Given the description of an element on the screen output the (x, y) to click on. 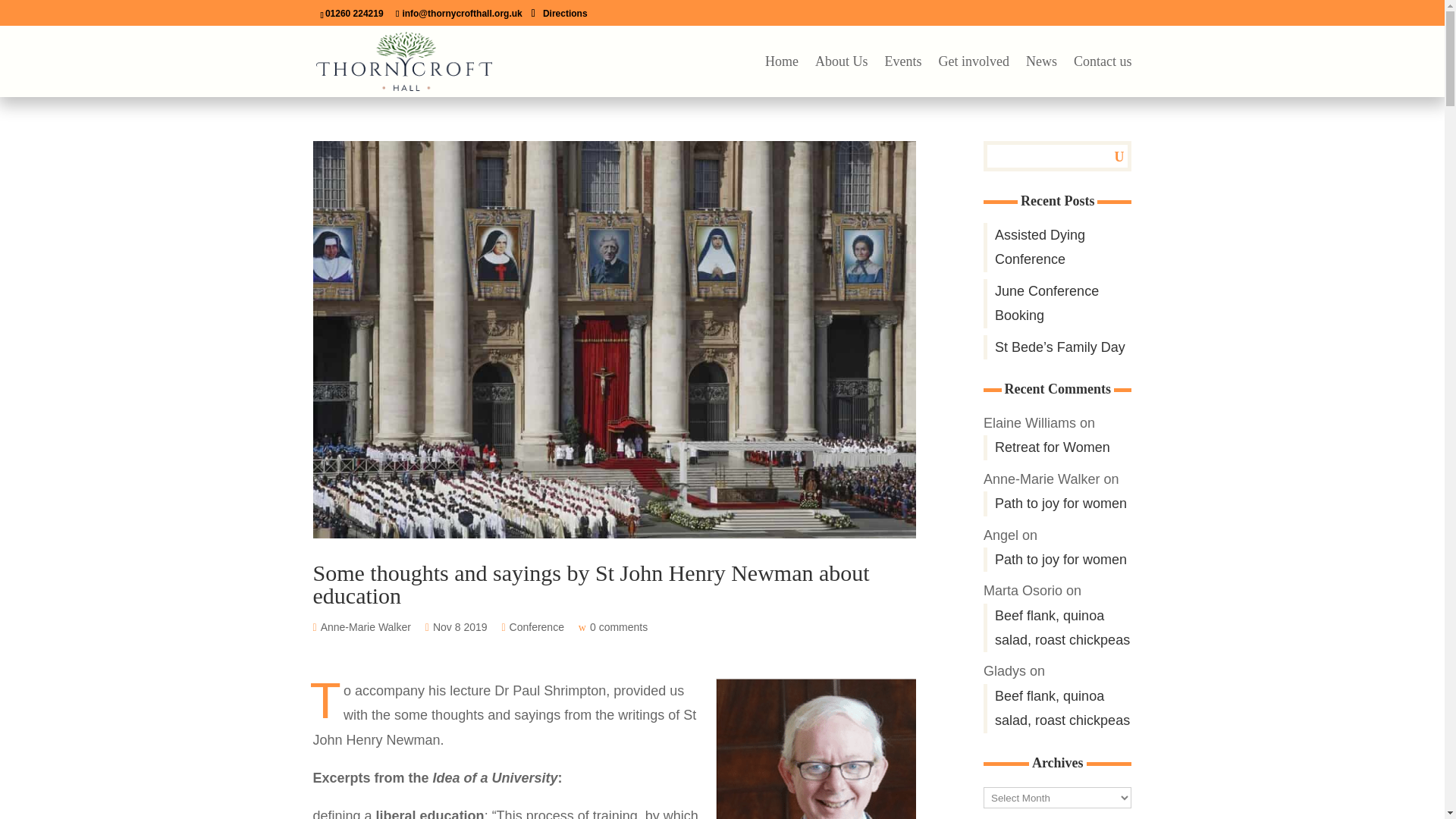
About Us (841, 76)
Search (1107, 155)
June Conference Booking (1057, 303)
Directions (565, 15)
Assisted Dying Conference (1057, 246)
Get involved (974, 76)
Conference (540, 627)
Search (1107, 155)
0 comments (620, 626)
Anne-Marie Walker (368, 626)
Posts by Anne-Marie Walker (368, 626)
Contact us (1103, 76)
Events (903, 76)
